Given the description of an element on the screen output the (x, y) to click on. 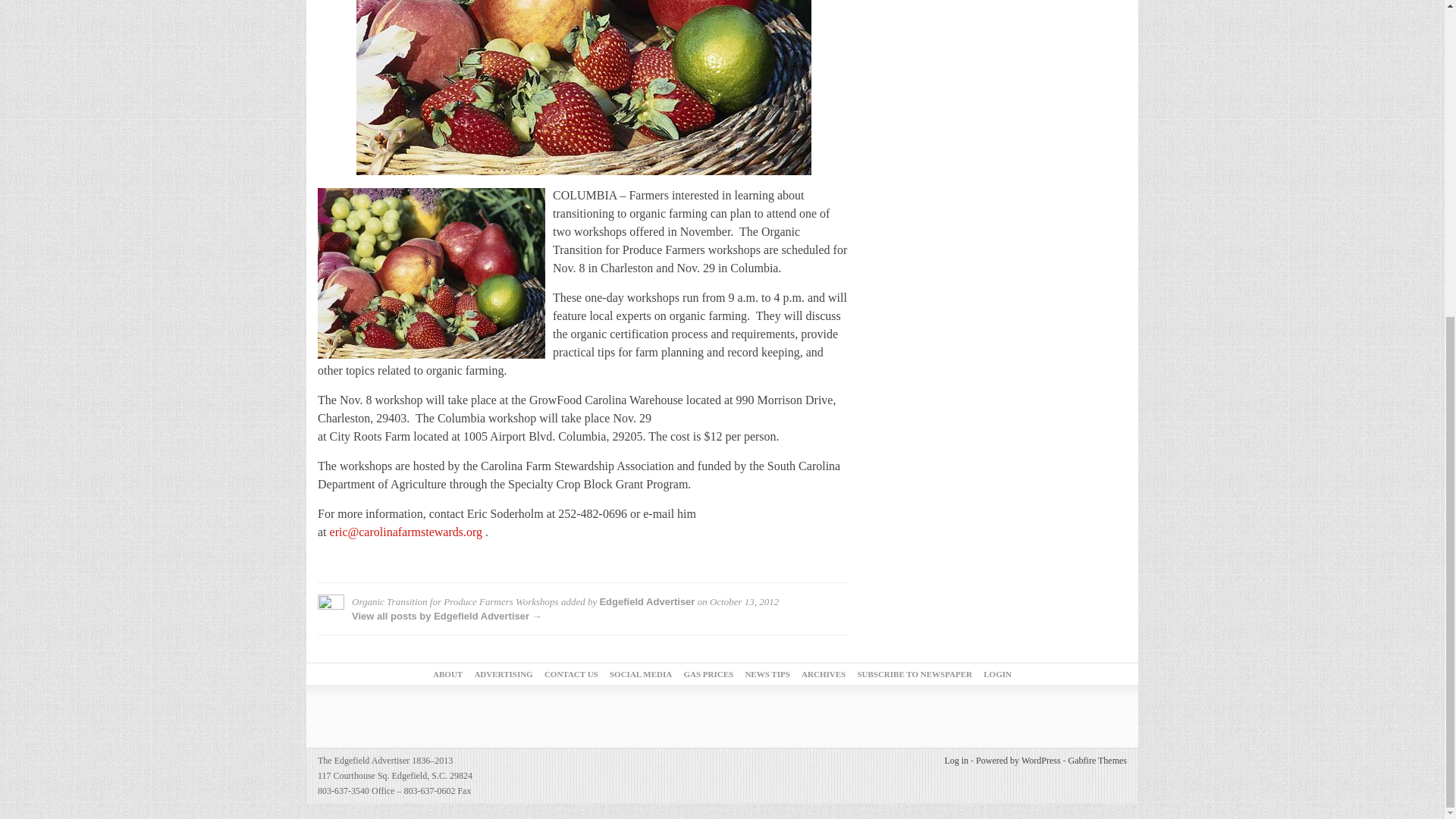
WordPress Newspaper Themes (1097, 760)
Edgefield Advertiser (646, 601)
Semantic Personal Publishing Platform (1017, 760)
NEWS TIPS (766, 673)
ARCHIVES (823, 673)
GAS PRICES (707, 673)
Organic Transition for Produce Farmers Workshops (583, 87)
ADVERTISING (503, 673)
CONTACT US (571, 673)
ABOUT (447, 673)
